Given the description of an element on the screen output the (x, y) to click on. 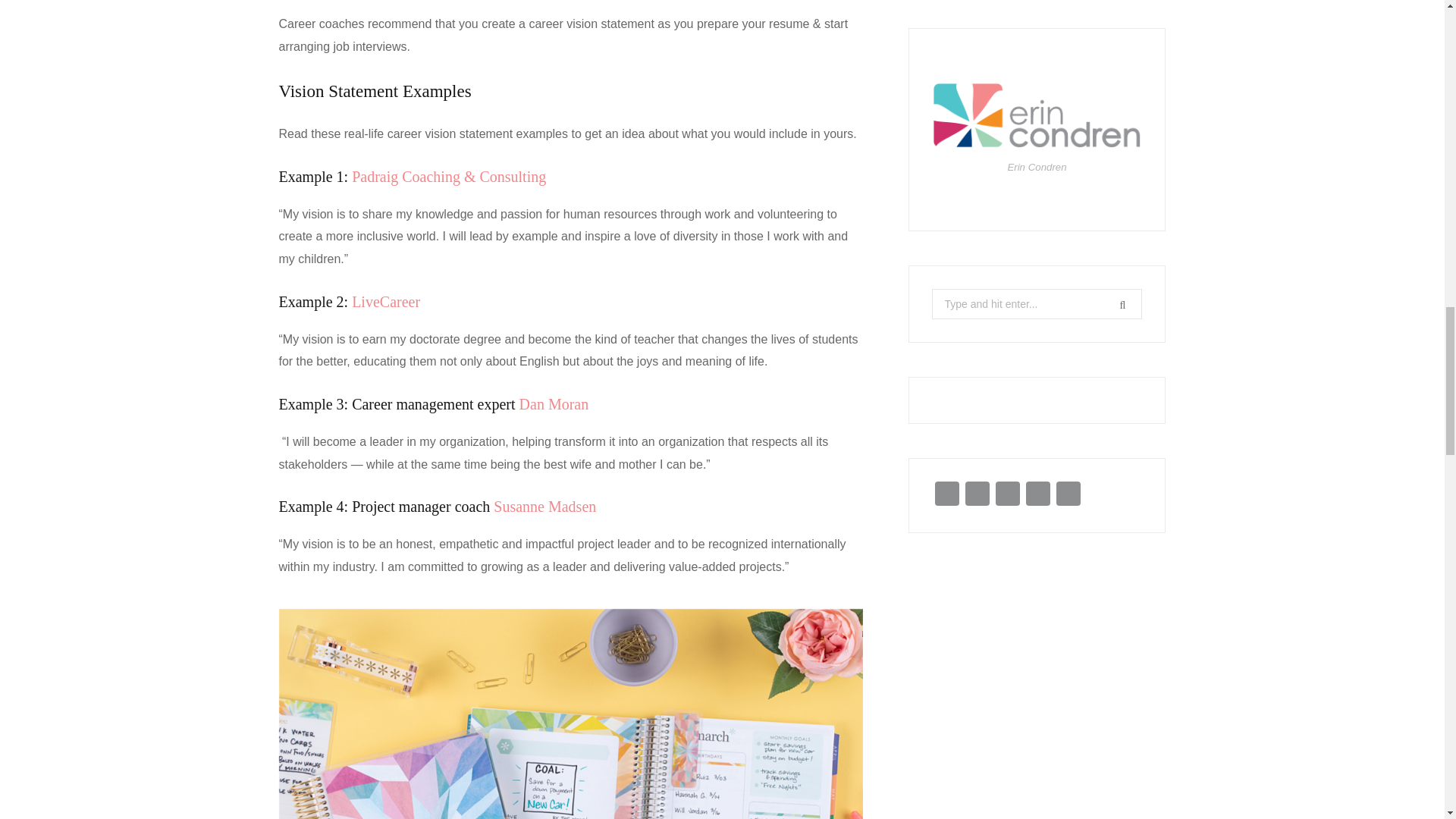
Susanne Madsen (544, 506)
Dan Moran (554, 403)
LiveCareer (386, 301)
